Given the description of an element on the screen output the (x, y) to click on. 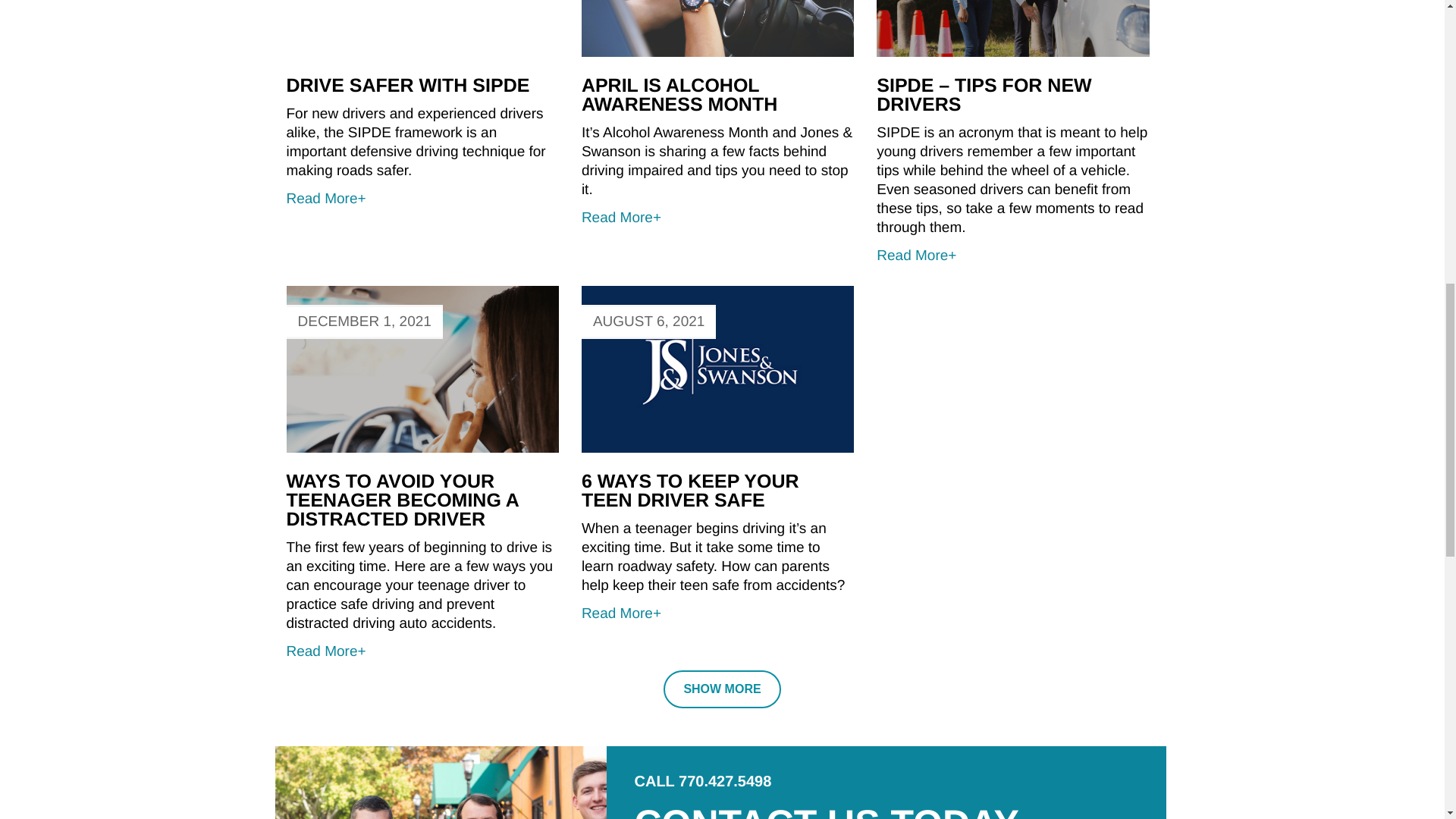
Ways to Avoid Your Teenager Becoming a Distracted Driver (402, 499)
Drive Safer with SIPDE (407, 85)
April is Alcohol Awareness Month (716, 212)
6 Ways to Keep Your Teen Driver Safe (689, 490)
6 Ways to Keep Your Teen Driver Safe (716, 607)
April is Alcohol Awareness Month (678, 95)
Ways to Avoid Your Teenager Becoming a Distracted Driver (422, 646)
Drive Safer with SIPDE (422, 193)
